Given the description of an element on the screen output the (x, y) to click on. 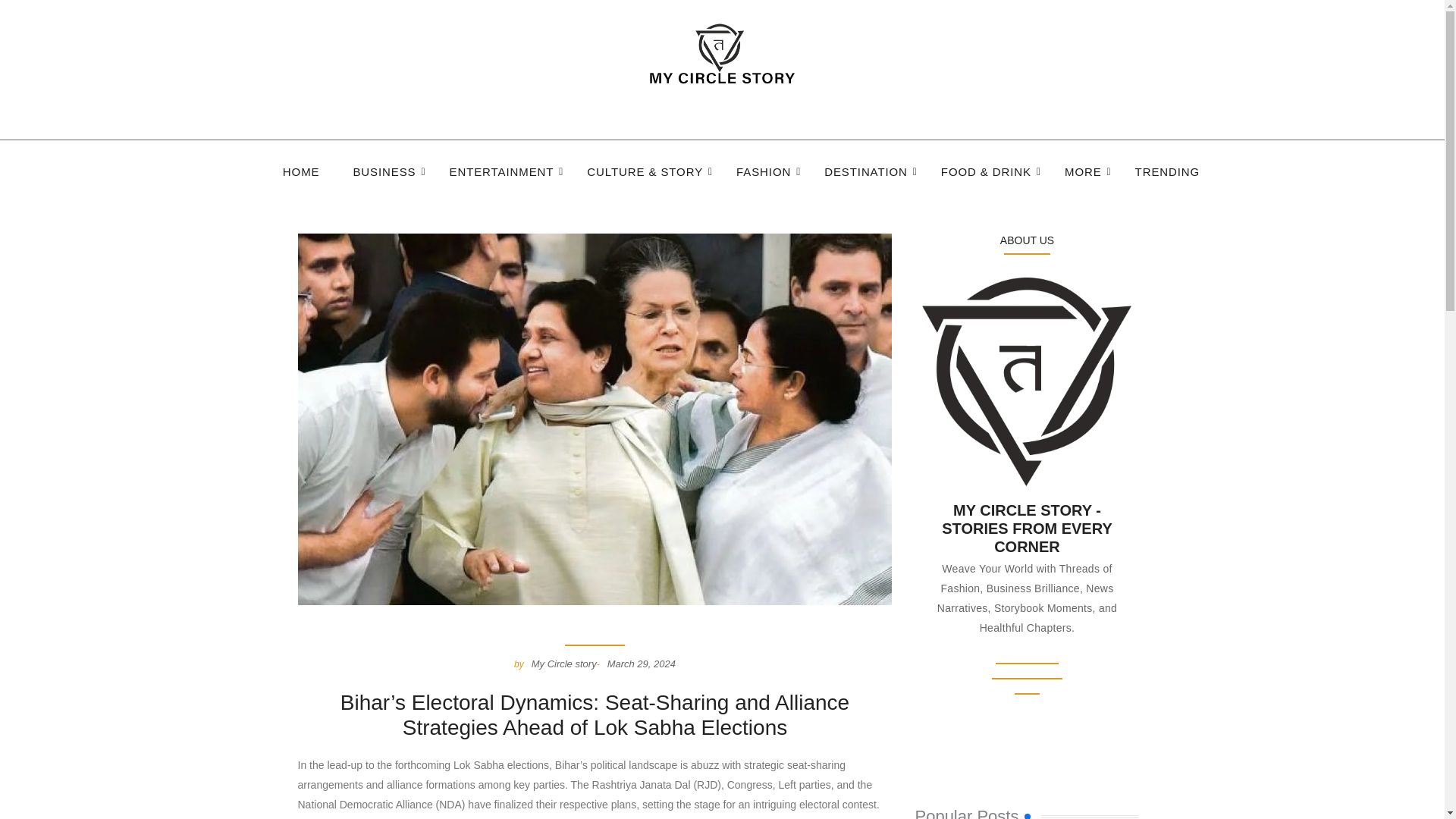
BUSINESS (384, 172)
ENTERTAINMENT (502, 172)
TRENDING (1167, 172)
FASHION (762, 172)
MORE (1082, 172)
HOME (301, 172)
DESTINATION (866, 172)
